Given the description of an element on the screen output the (x, y) to click on. 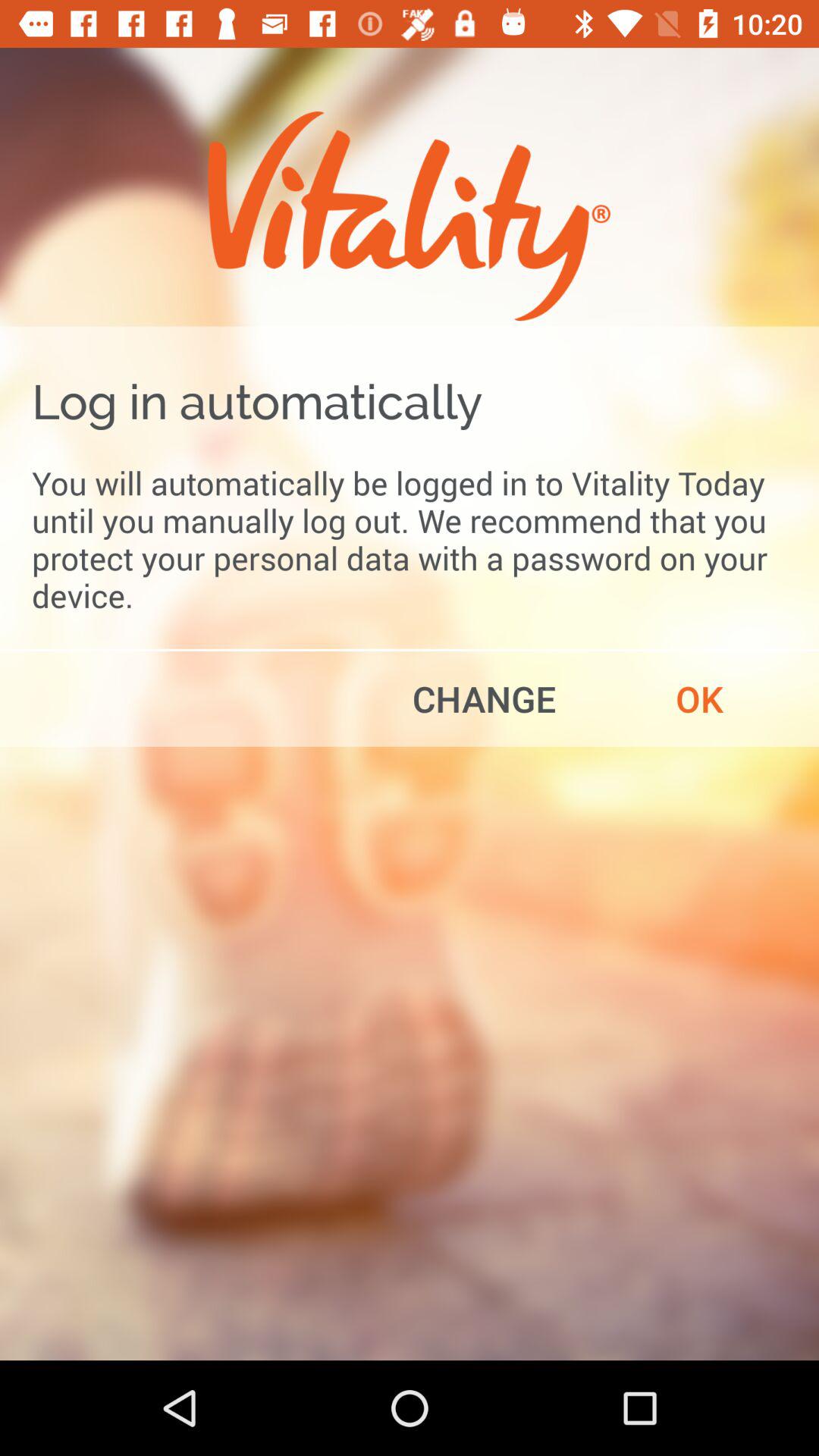
turn on the icon to the right of the change item (699, 698)
